Given the description of an element on the screen output the (x, y) to click on. 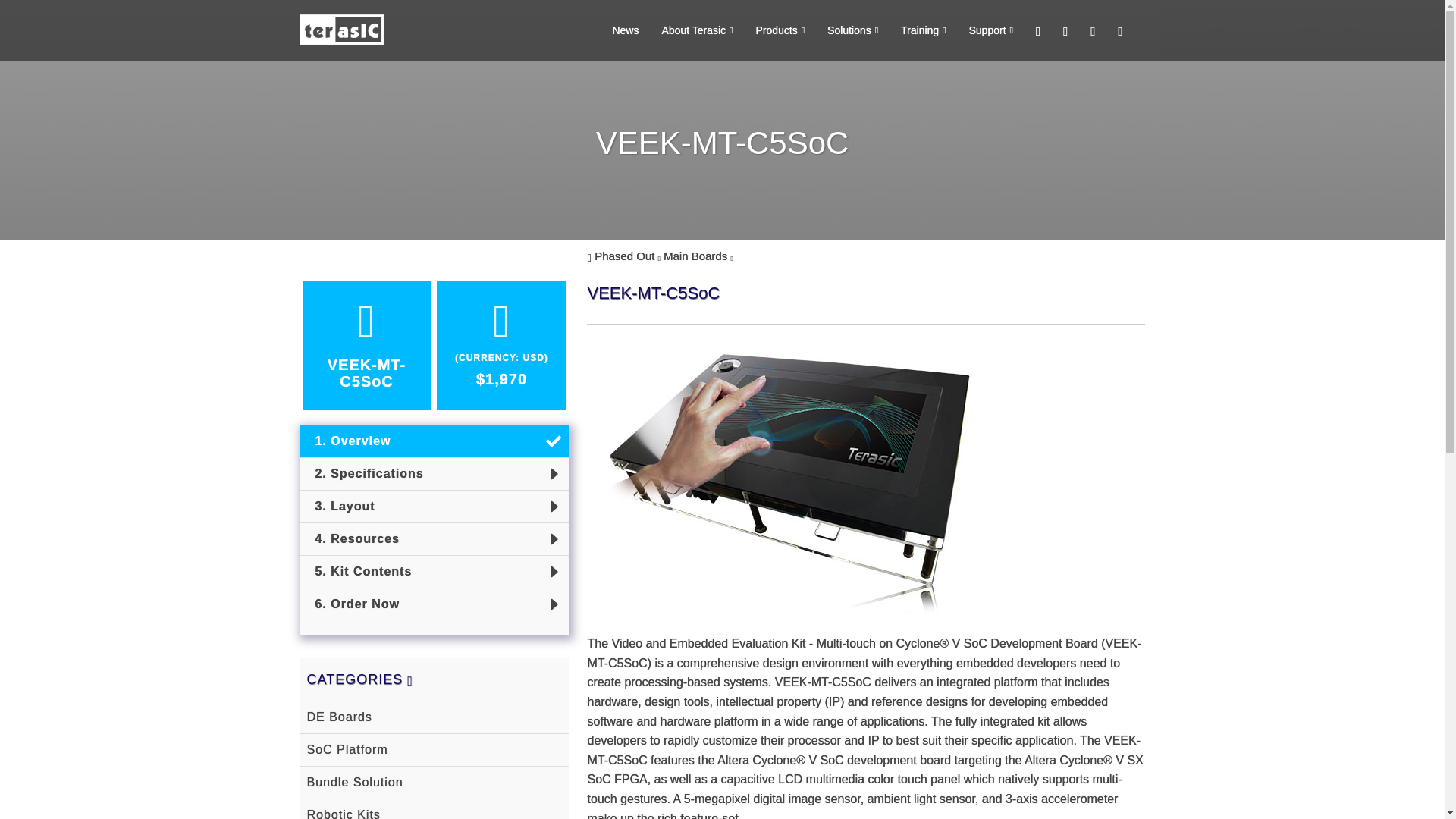
Solutions (841, 29)
News (614, 29)
About Terasic (685, 29)
Products (768, 29)
Support (979, 29)
News (614, 29)
Training (910, 29)
